Given the description of an element on the screen output the (x, y) to click on. 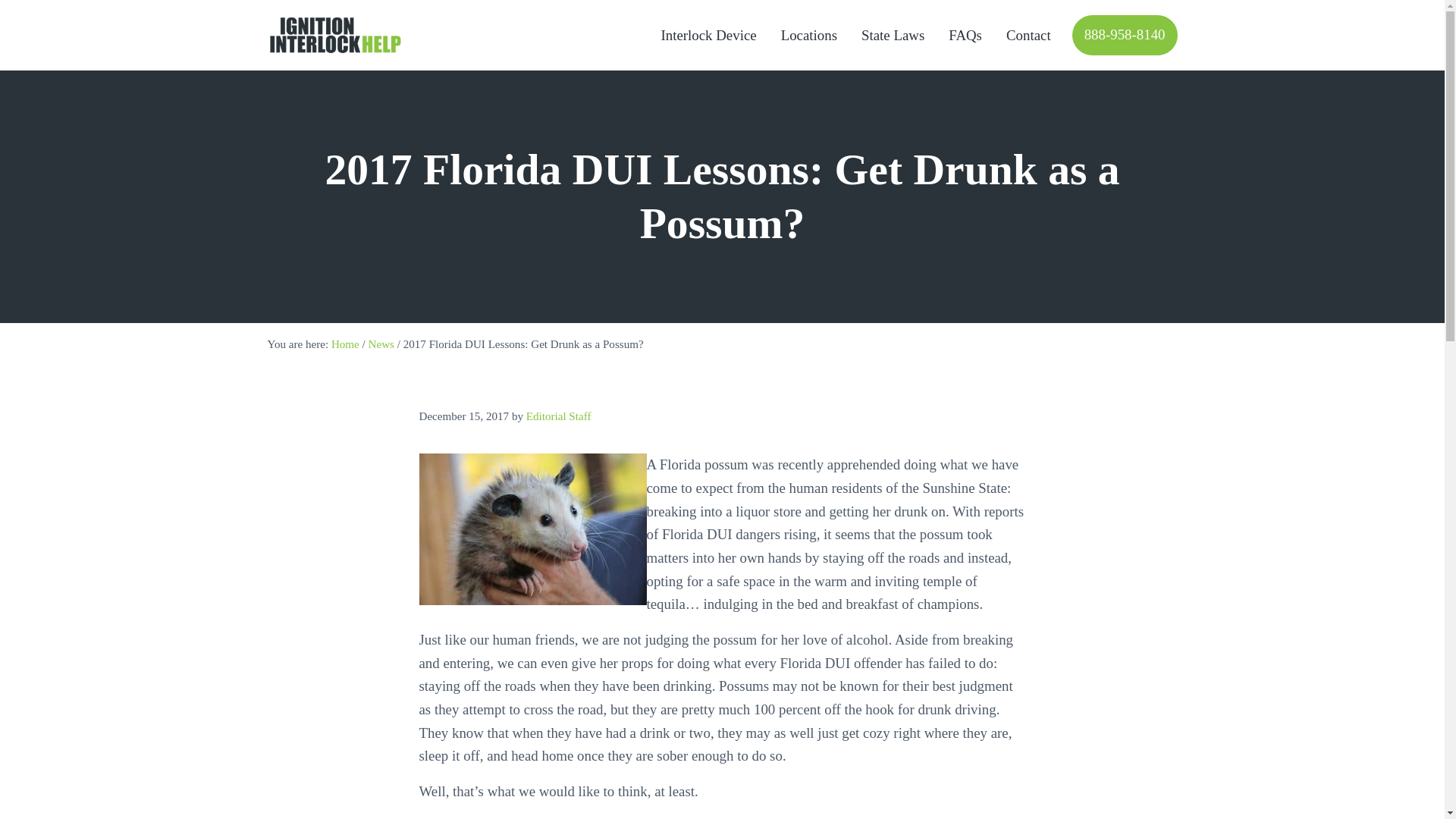
Editorial Staff (558, 417)
Locations (808, 35)
News (381, 344)
FAQs (965, 35)
888-958-8140 (1124, 35)
Home (345, 344)
Interlock Device (707, 35)
State Laws (892, 35)
Contact (1028, 35)
